Given the description of an element on the screen output the (x, y) to click on. 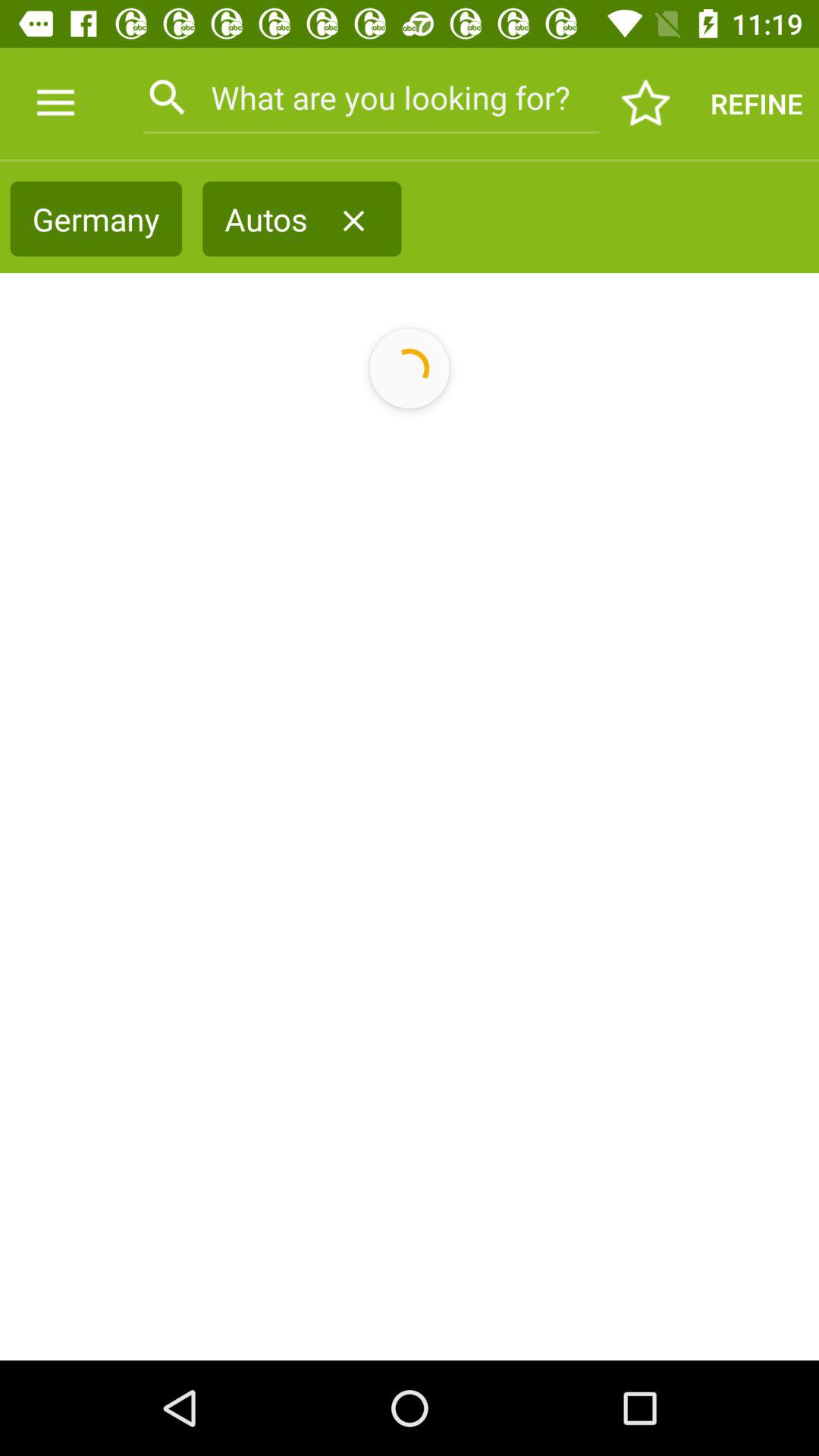
choose item next to the autos (353, 220)
